Given the description of an element on the screen output the (x, y) to click on. 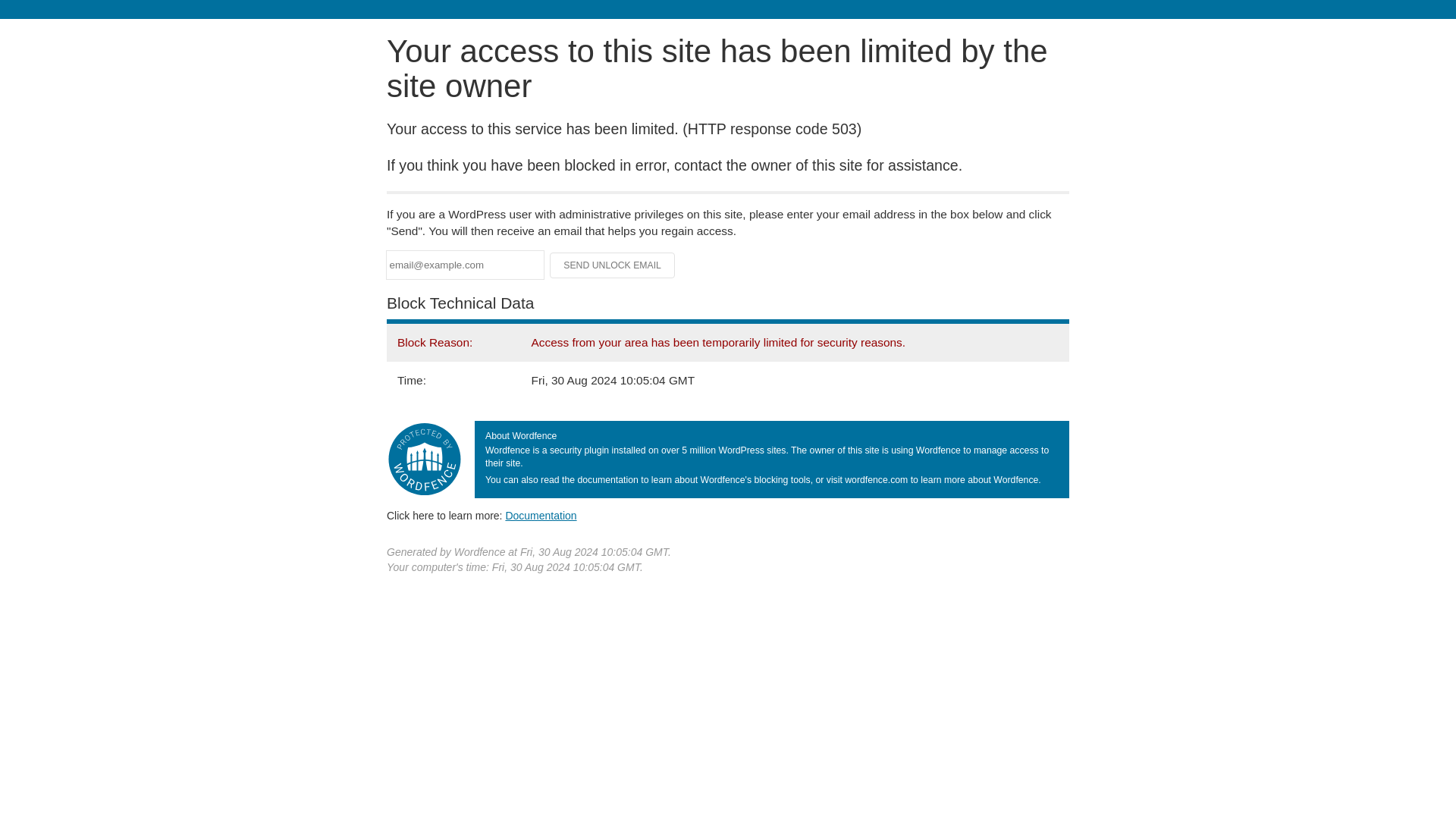
Send Unlock Email (612, 265)
Documentation (540, 515)
Send Unlock Email (612, 265)
